Given the description of an element on the screen output the (x, y) to click on. 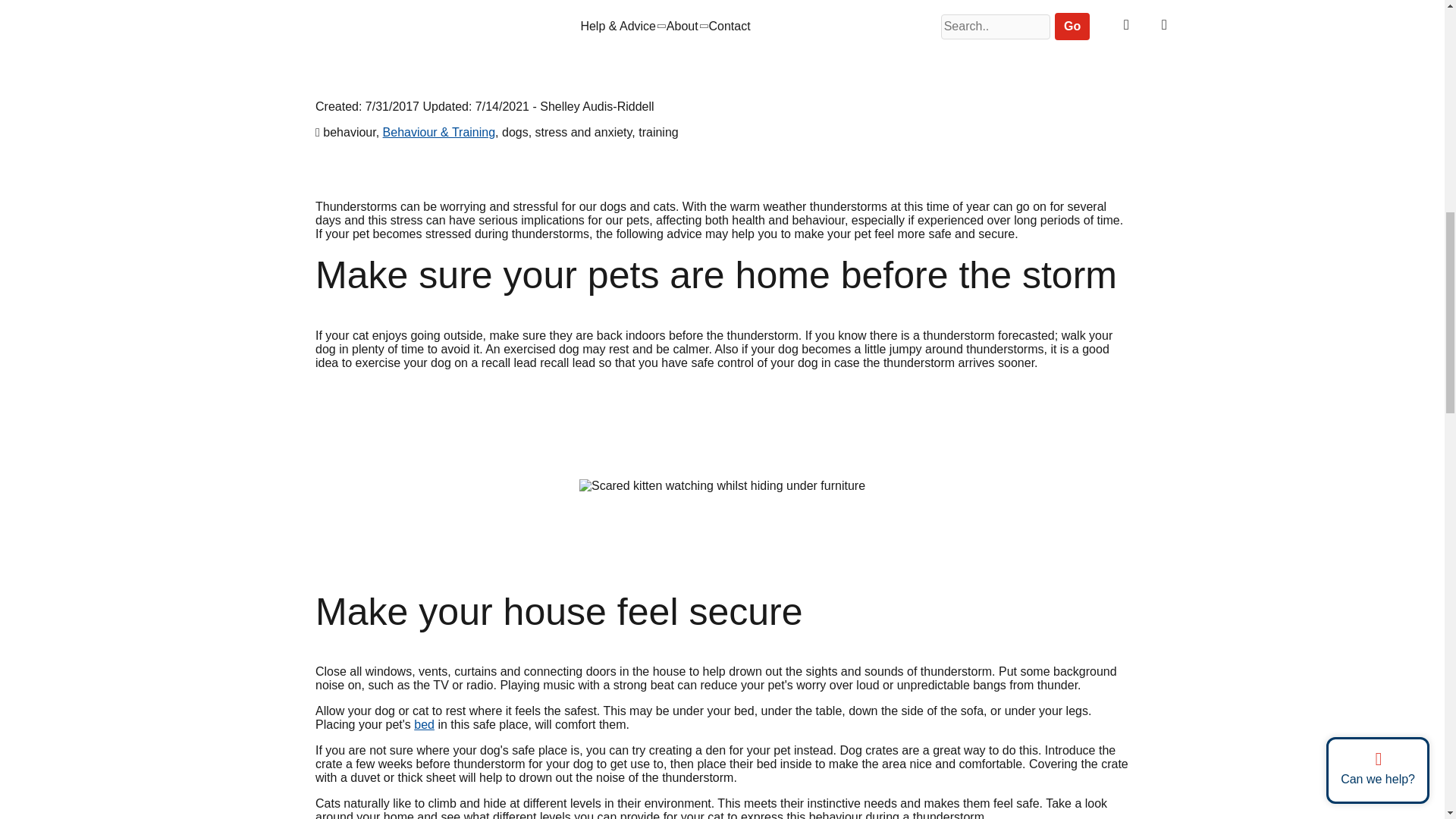
Make sure your cat is home safe before the thunderstorm  (721, 486)
